Given the description of an element on the screen output the (x, y) to click on. 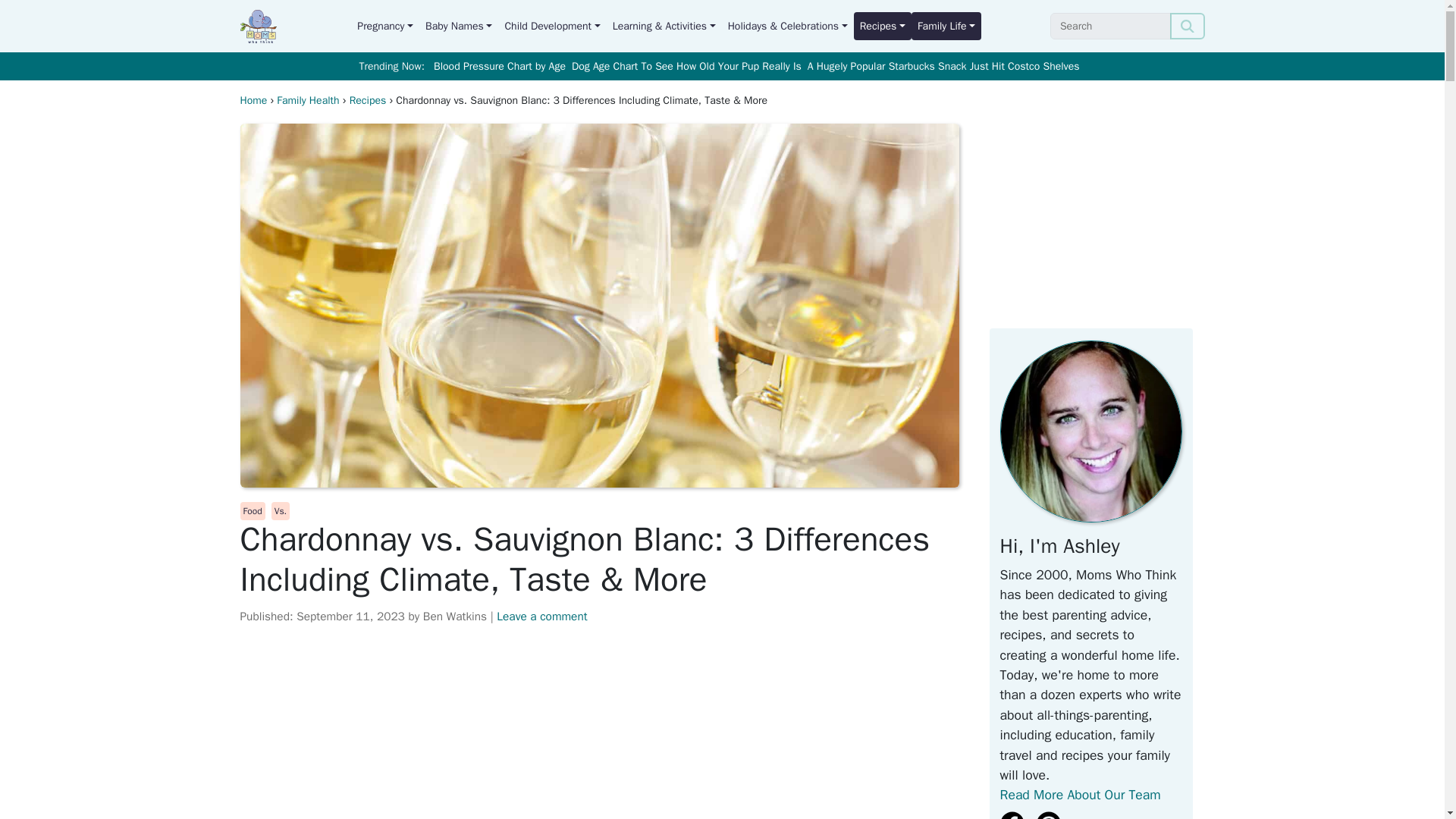
Pregnancy (384, 26)
Recipes (882, 26)
Baby Names (458, 26)
Child Development (551, 26)
